Given the description of an element on the screen output the (x, y) to click on. 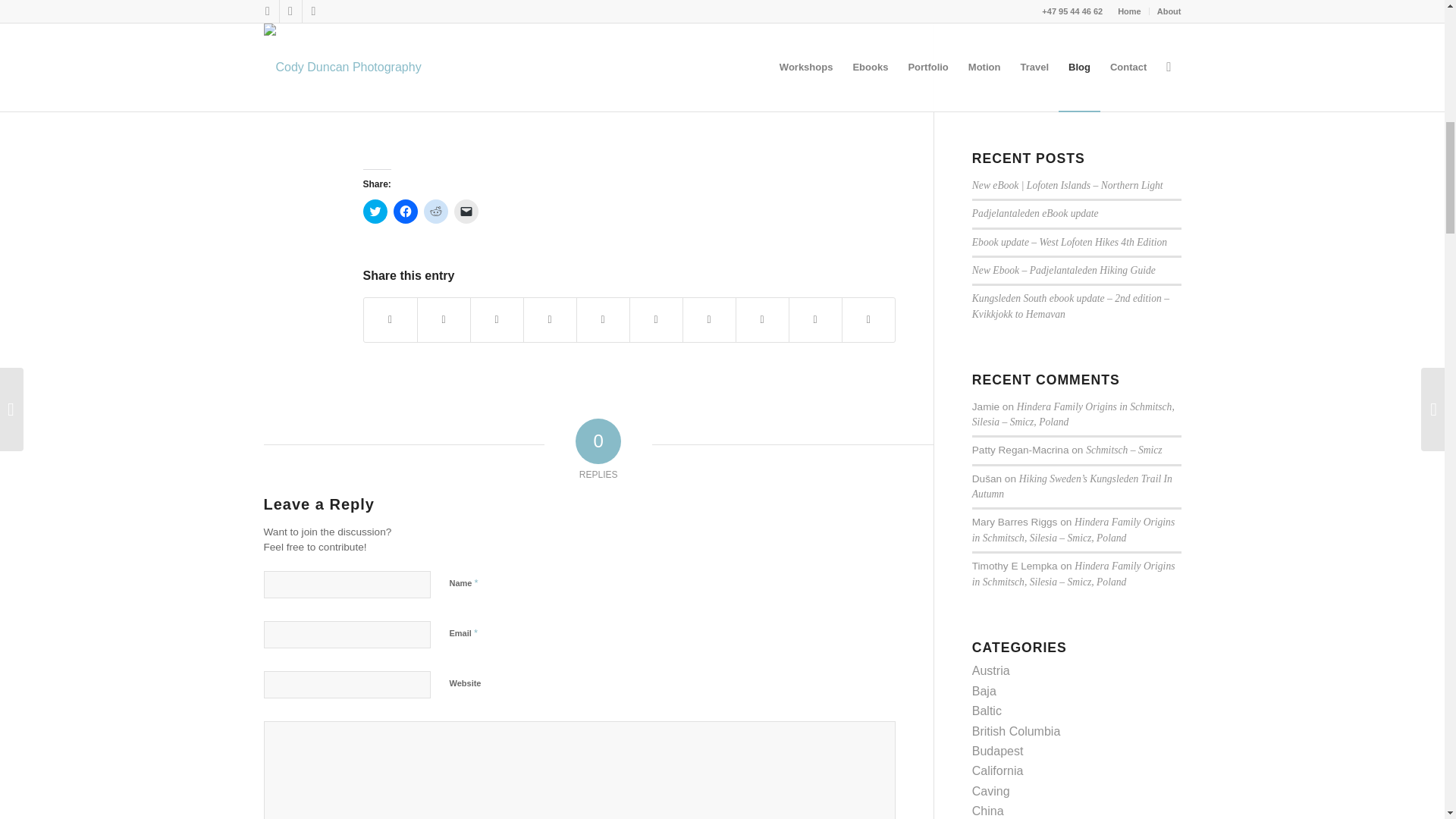
Click to share on Twitter (374, 211)
Click to share on Reddit (434, 211)
raftsundet-lofoten2 (628, 79)
Click to email a link to a friend (464, 211)
Click to share on Facebook (404, 211)
